Given the description of an element on the screen output the (x, y) to click on. 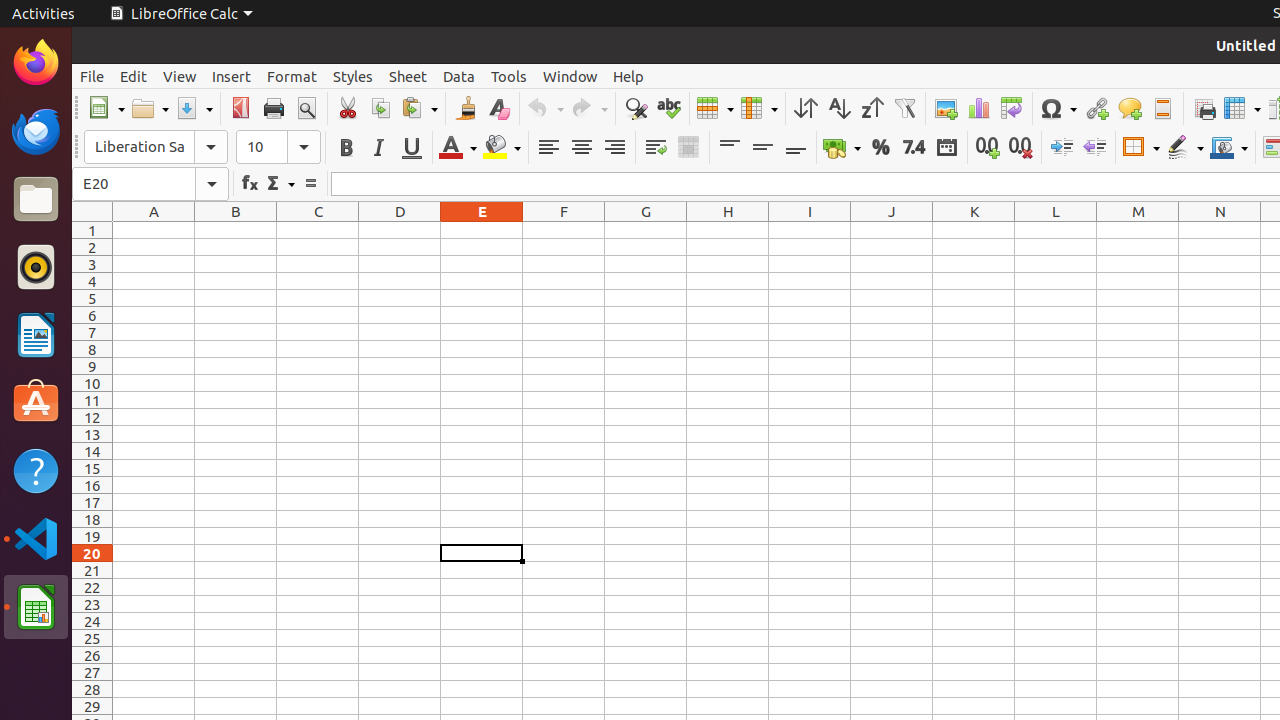
File Element type: menu (92, 76)
Hyperlink Element type: toggle-button (1096, 108)
Sheet Element type: menu (408, 76)
Window Element type: menu (570, 76)
Wrap Text Element type: push-button (655, 147)
